Given the description of an element on the screen output the (x, y) to click on. 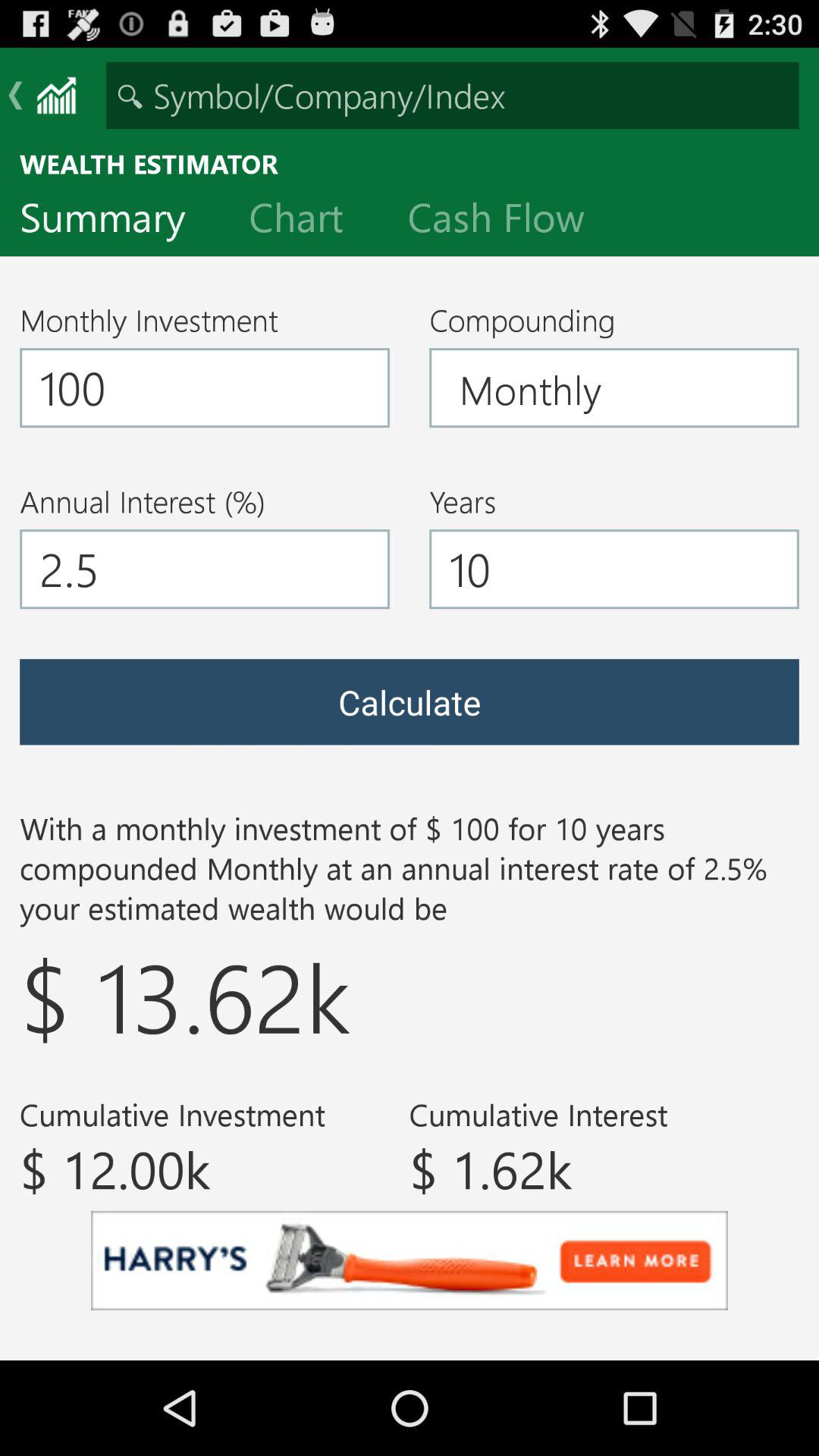
open the icon next to the chart icon (114, 220)
